Given the description of an element on the screen output the (x, y) to click on. 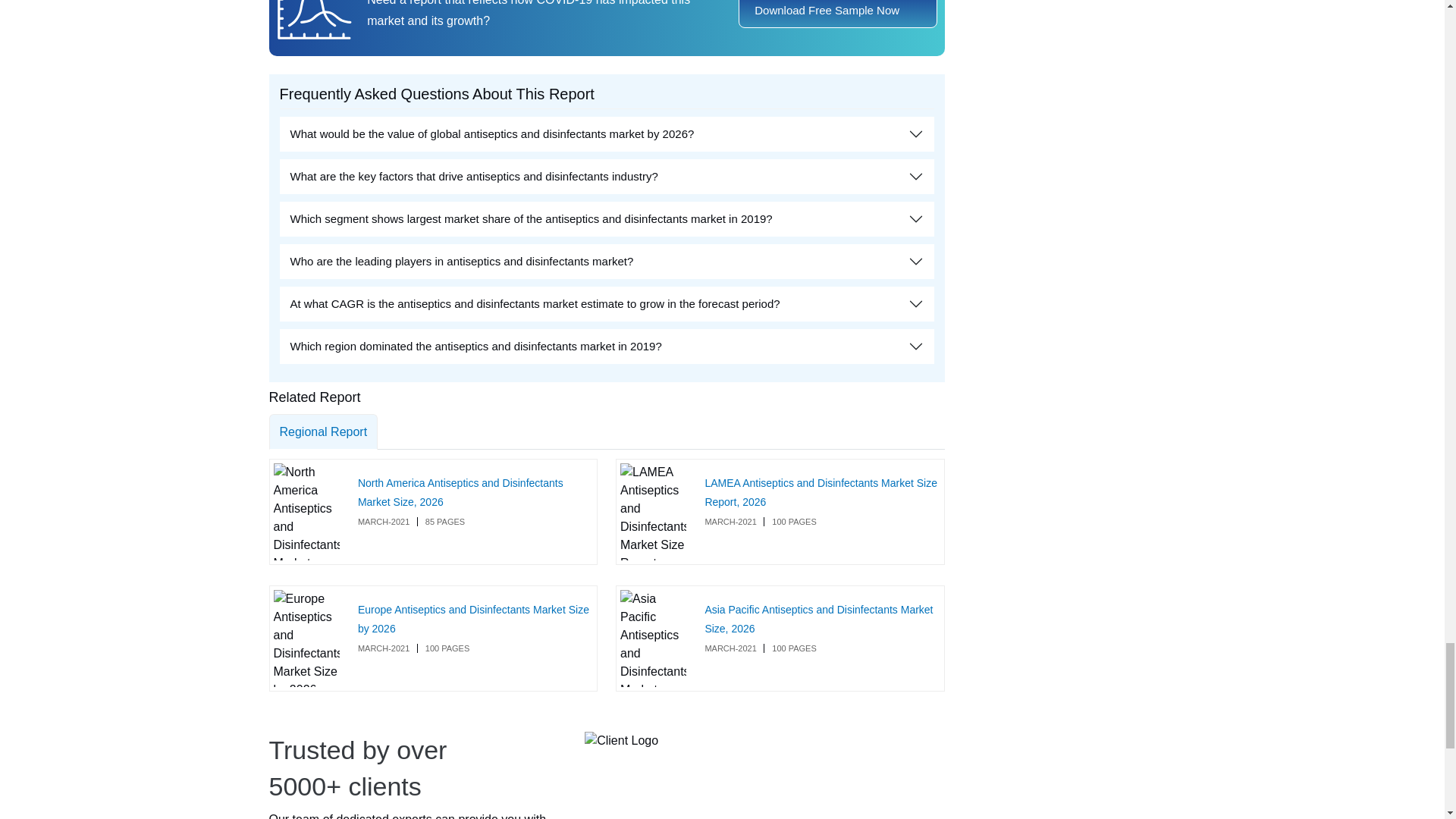
Client Logo (621, 741)
LAMEA Antiseptics and Disinfectants Market Size Report, 2026 (820, 491)
Asia Pacific Antiseptics and Disinfectants Market Size, 2026 (818, 618)
Europe Antiseptics and Disinfectants Market Size by 2026 (473, 618)
